Given the description of an element on the screen output the (x, y) to click on. 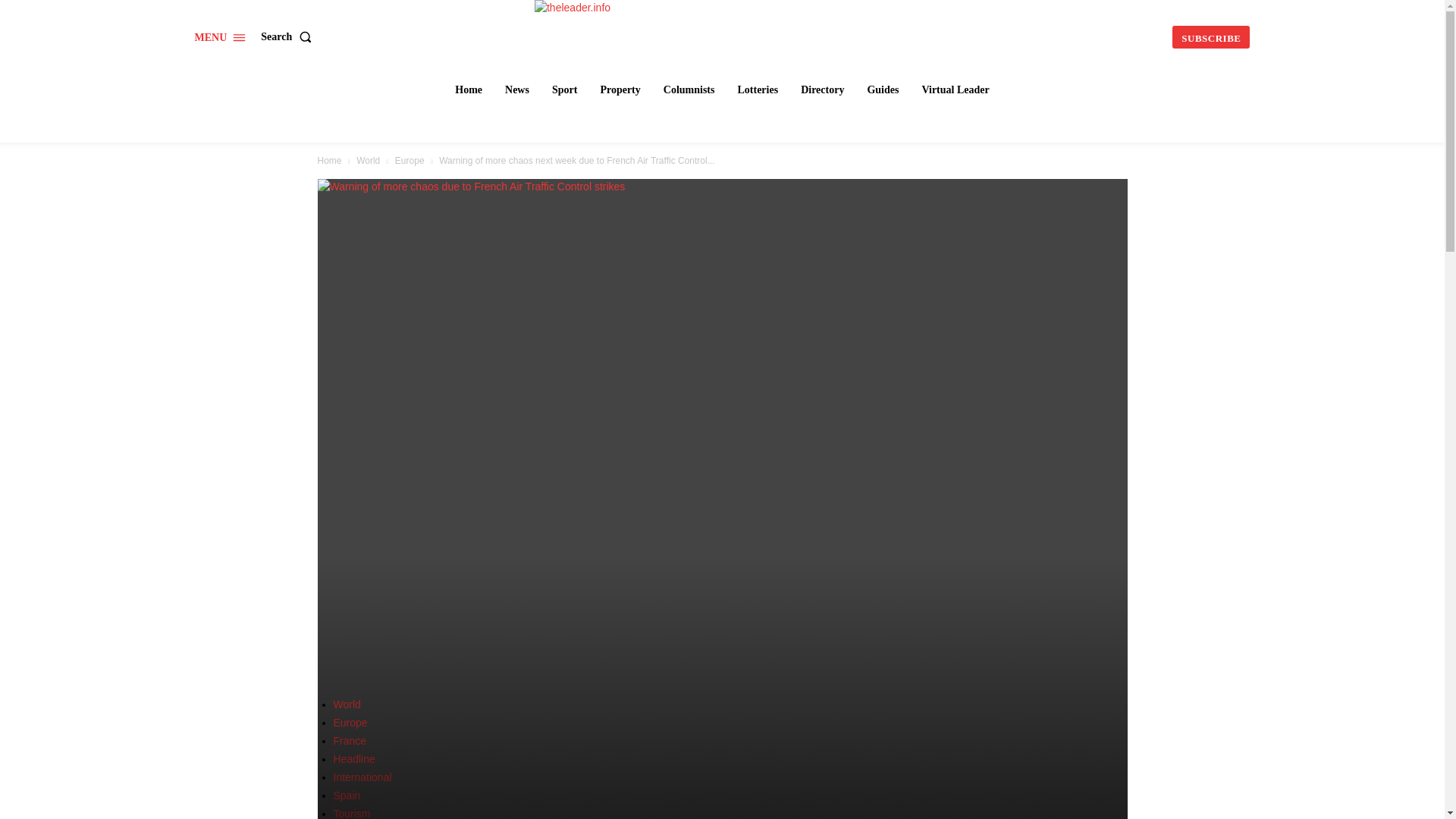
theleader.info (723, 35)
Subscribe (1210, 37)
theleader.info (724, 35)
Menu (219, 37)
